Given the description of an element on the screen output the (x, y) to click on. 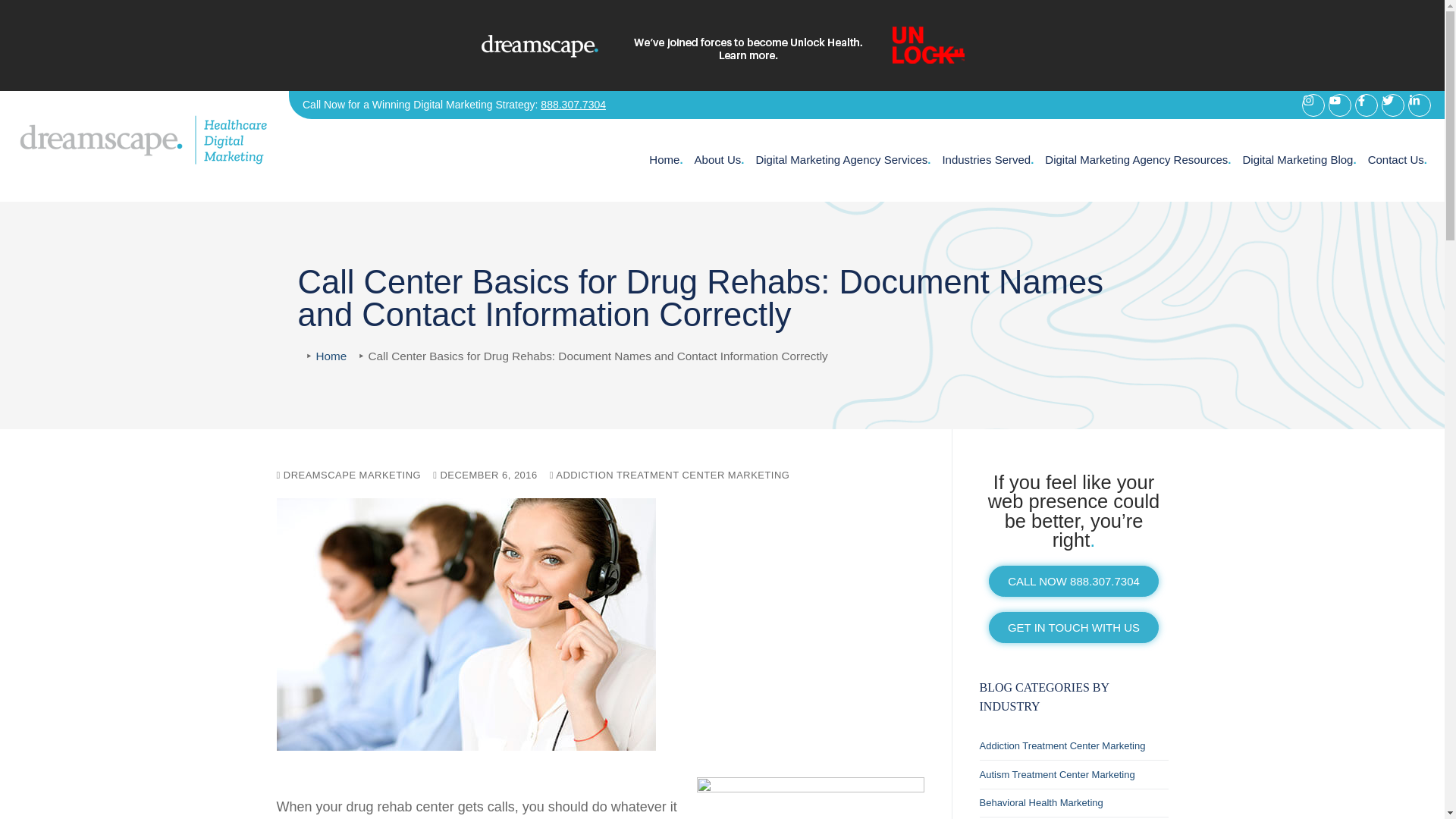
Home. (665, 159)
Digital Marketing Agency Services. (842, 159)
About Us. (719, 159)
888.307.7304 (572, 104)
